Given the description of an element on the screen output the (x, y) to click on. 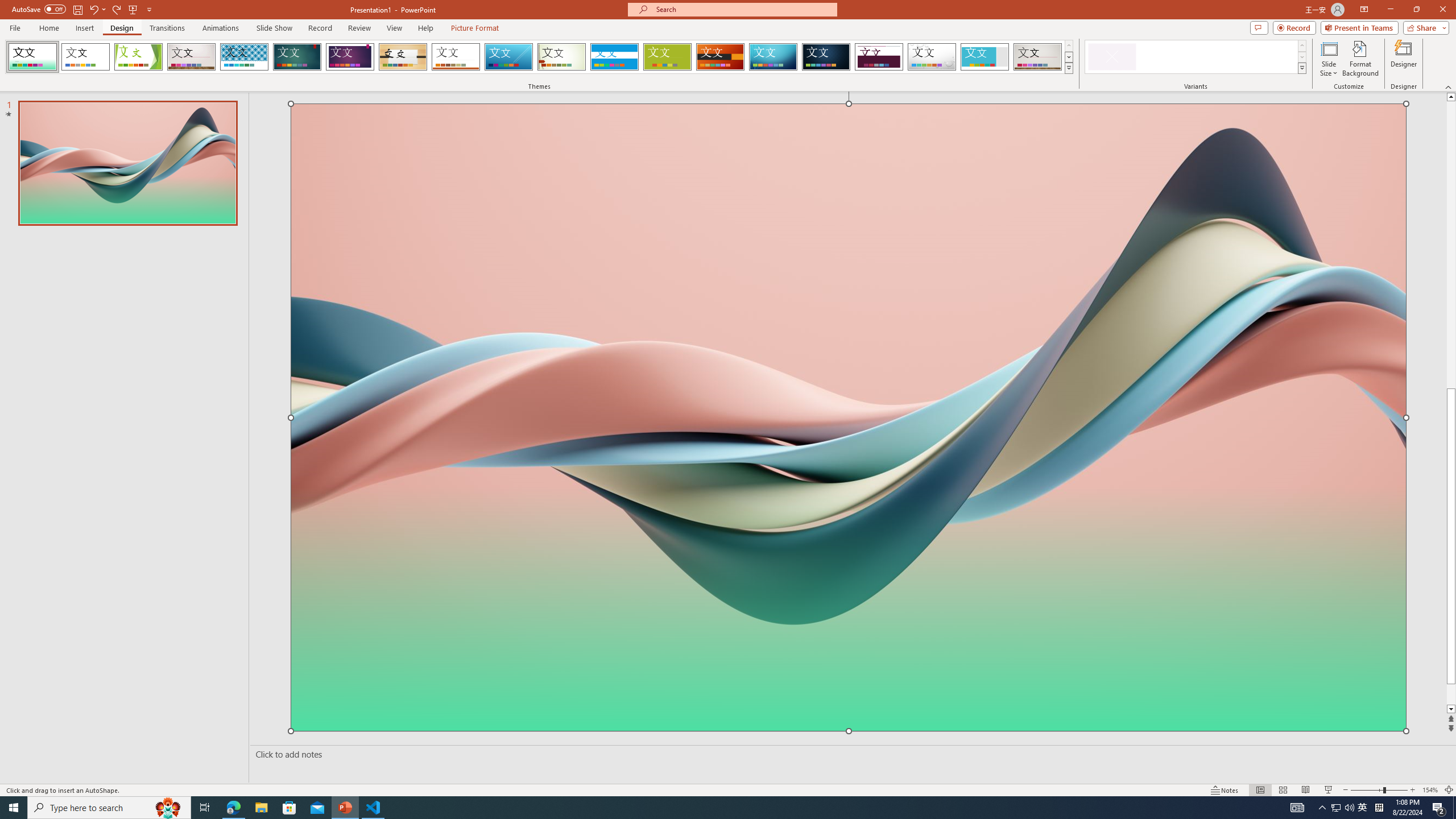
Ion (296, 56)
Organic (403, 56)
Variants (1301, 67)
Page up (1450, 239)
